Given the description of an element on the screen output the (x, y) to click on. 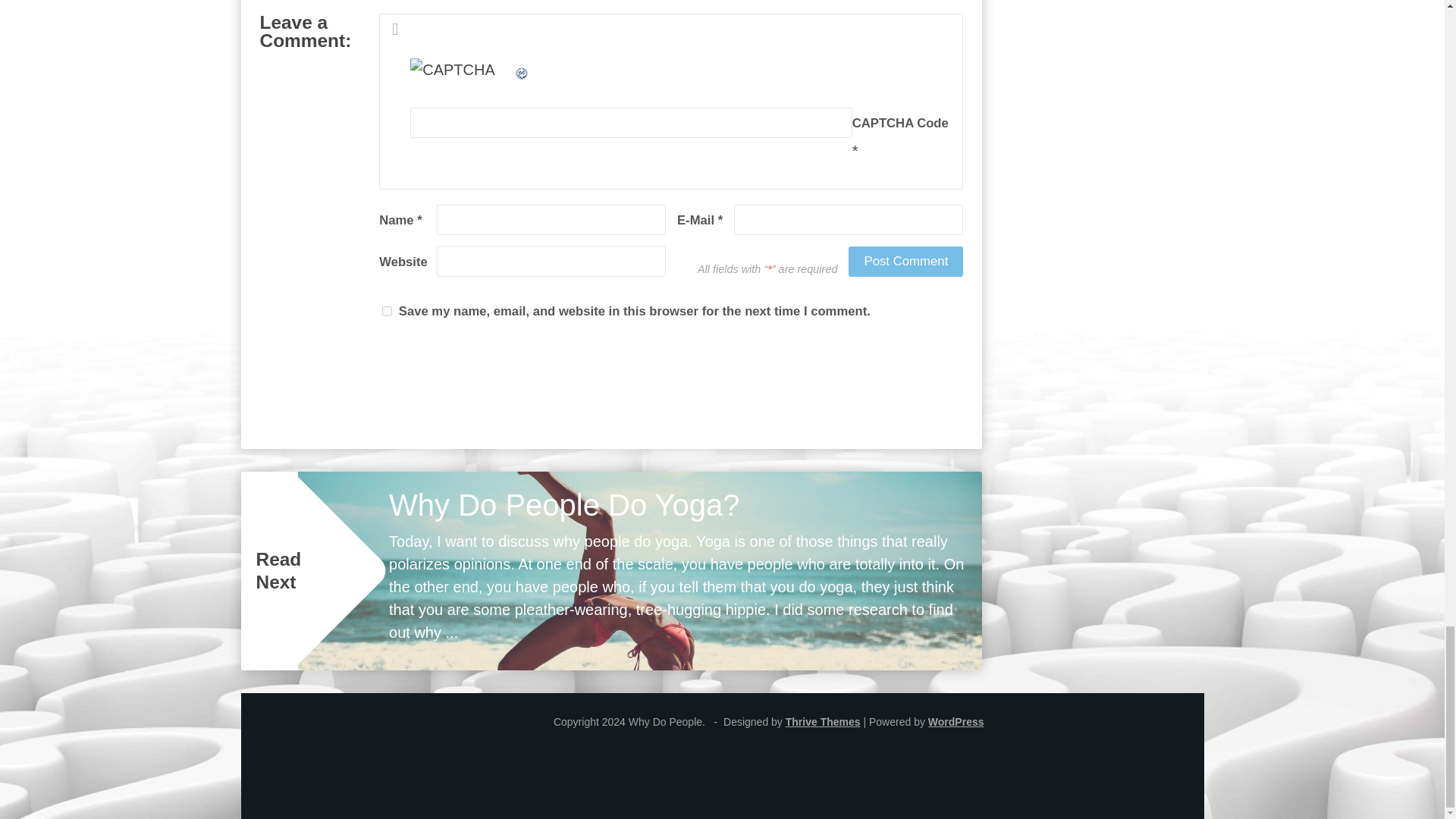
Post Comment (905, 261)
yes (386, 311)
Post Comment (905, 261)
CAPTCHA (461, 75)
Refresh (522, 69)
